Given the description of an element on the screen output the (x, y) to click on. 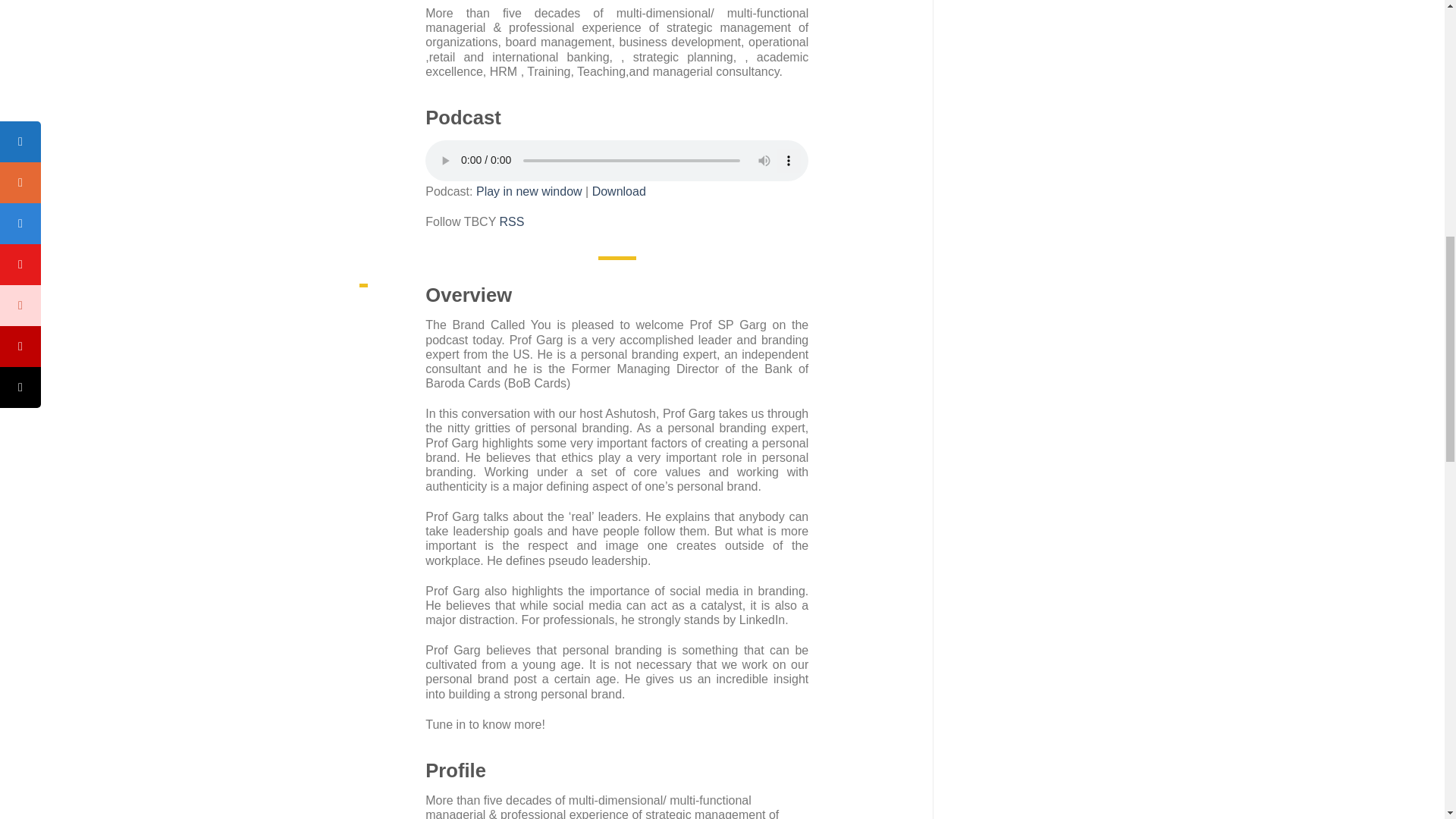
Download (619, 191)
Play in new window (529, 191)
Subscribe via RSS (511, 221)
